Given the description of an element on the screen output the (x, y) to click on. 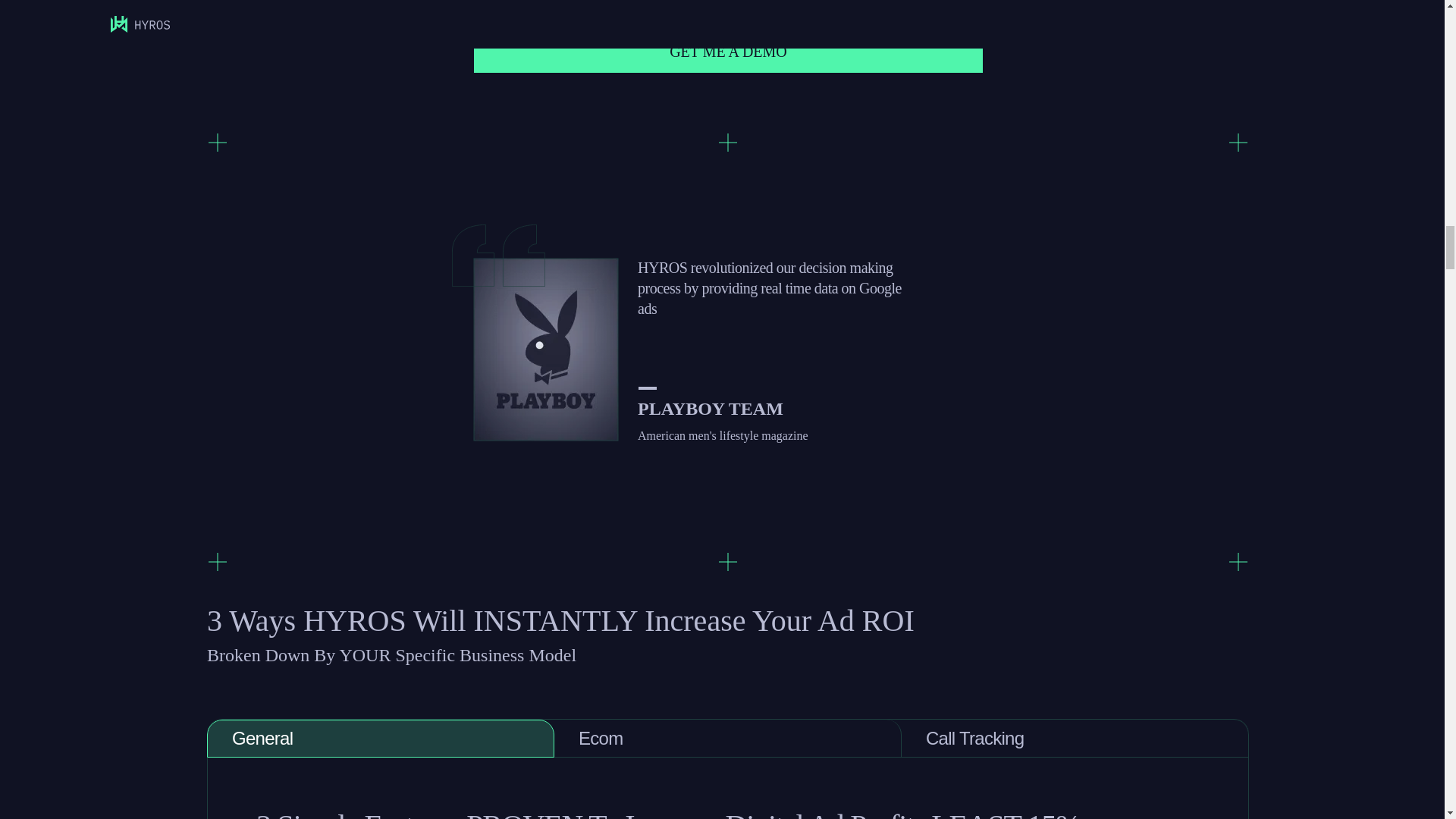
GET ME A DEMO (729, 51)
General (380, 738)
Call Tracking (1075, 738)
Ecom (727, 738)
